Given the description of an element on the screen output the (x, y) to click on. 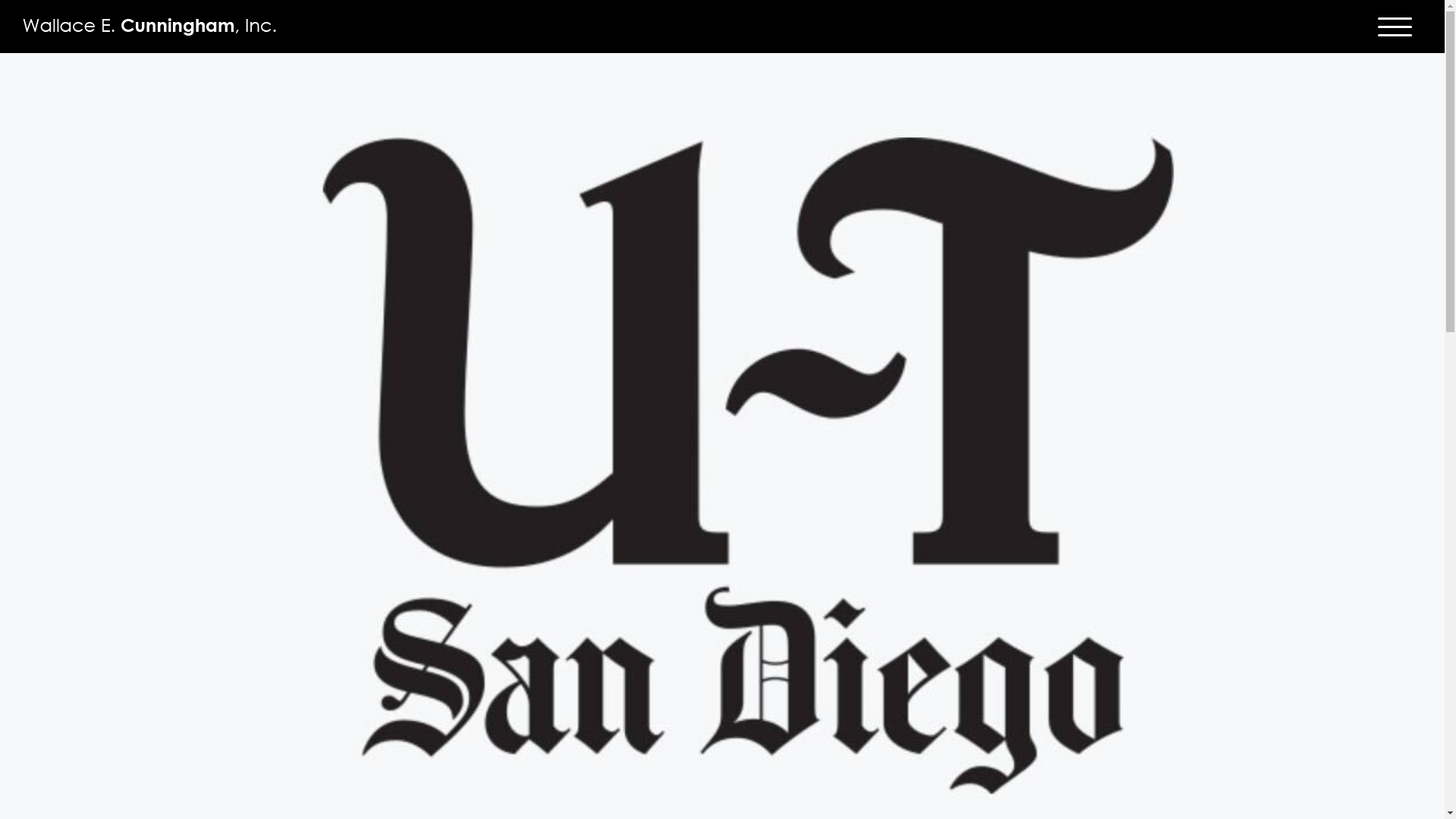
logo (149, 27)
